Given the description of an element on the screen output the (x, y) to click on. 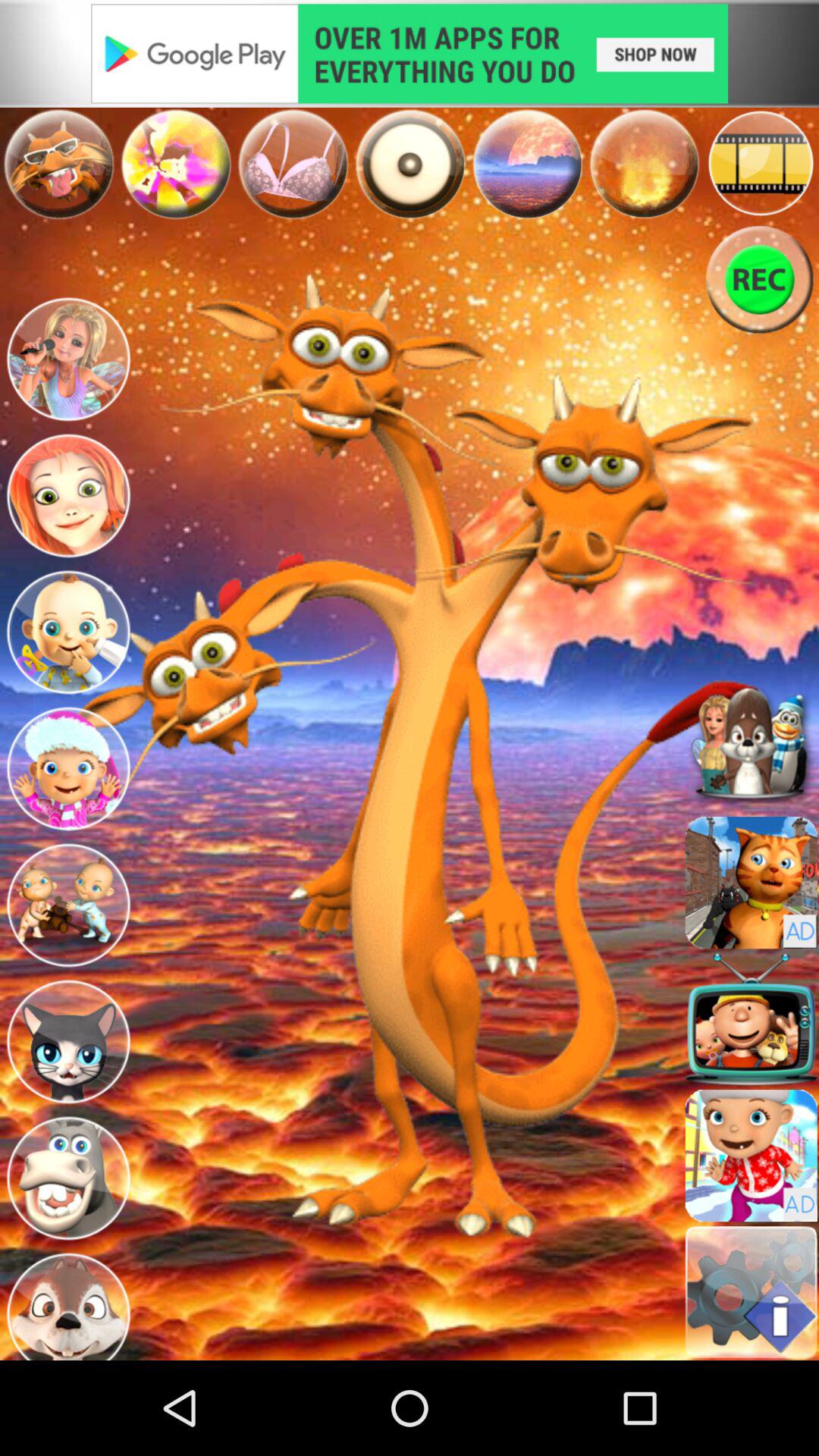
load a different avatar (751, 882)
